Given the description of an element on the screen output the (x, y) to click on. 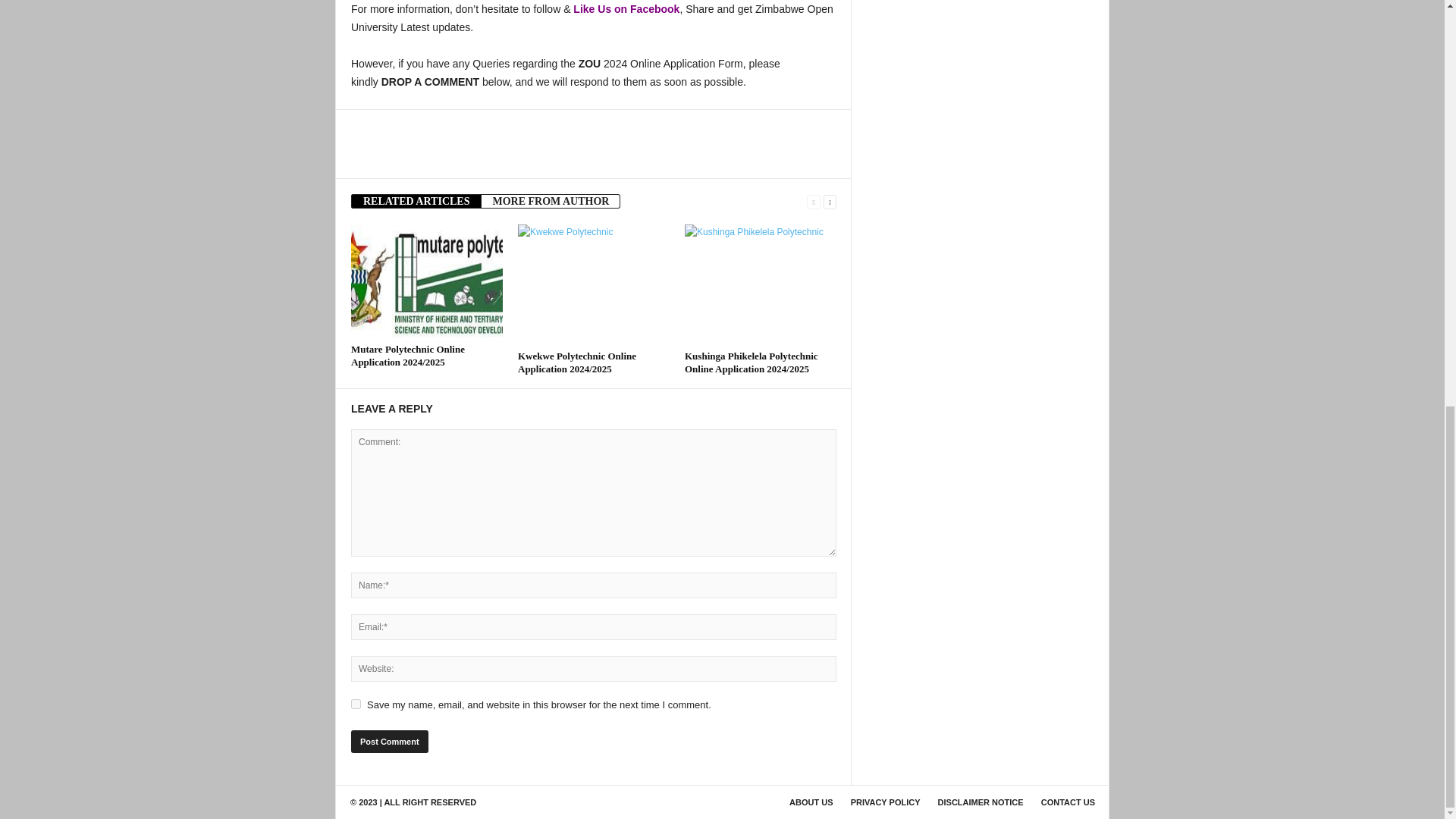
RELATED ARTICLES (415, 201)
Post Comment (389, 741)
Like Us on Facebook (626, 9)
yes (355, 704)
MORE FROM AUTHOR (550, 201)
